Given the description of an element on the screen output the (x, y) to click on. 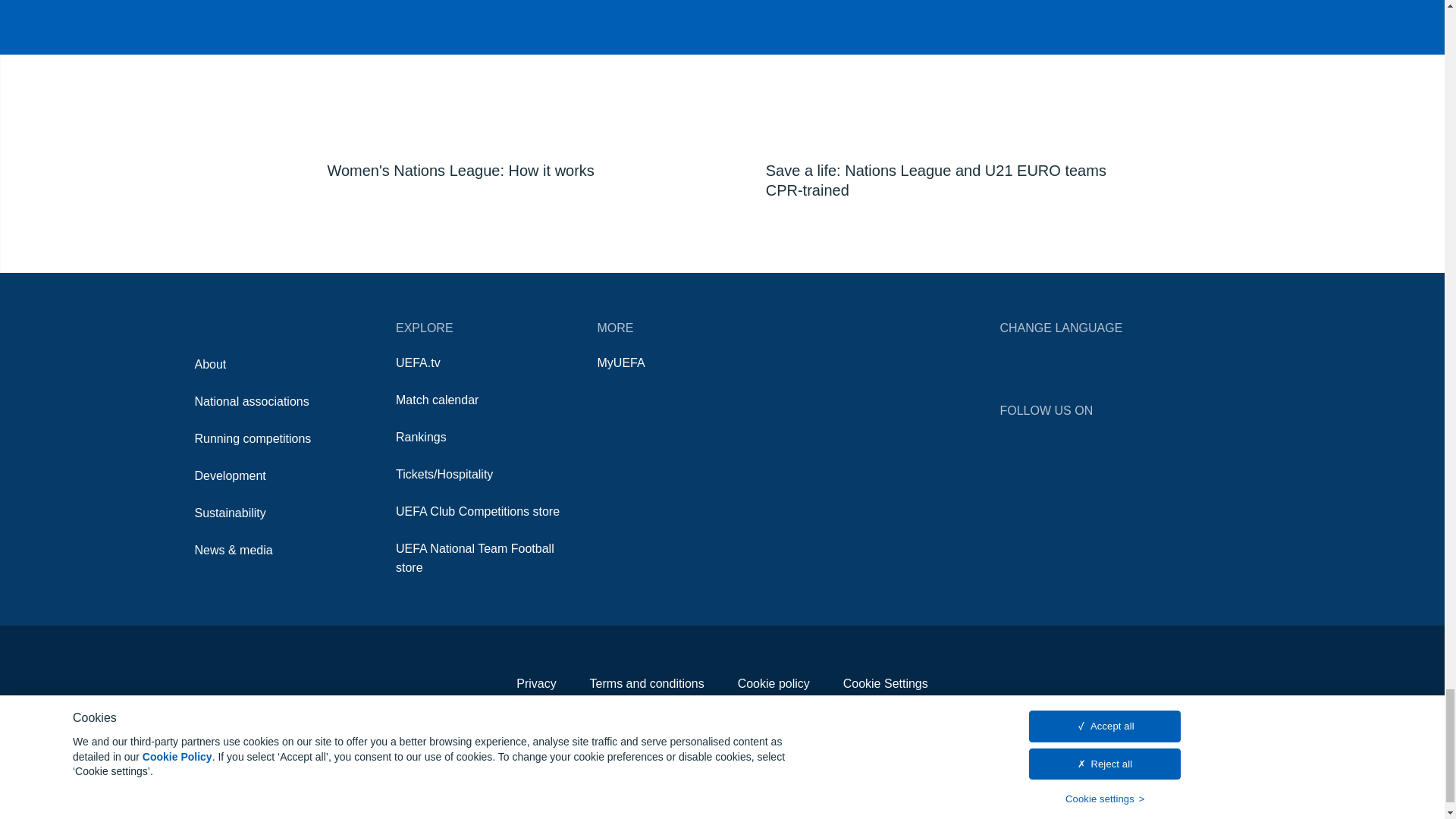
About (209, 364)
MyUEFA (620, 362)
Sustainability (228, 512)
UEFA Club Competitions store (477, 511)
Terms and conditions (646, 683)
Privacy (536, 683)
YouTube (1096, 438)
Women's Nations League: How it works (499, 96)
Match calendar (437, 399)
UEFA.tv (418, 362)
